Given the description of an element on the screen output the (x, y) to click on. 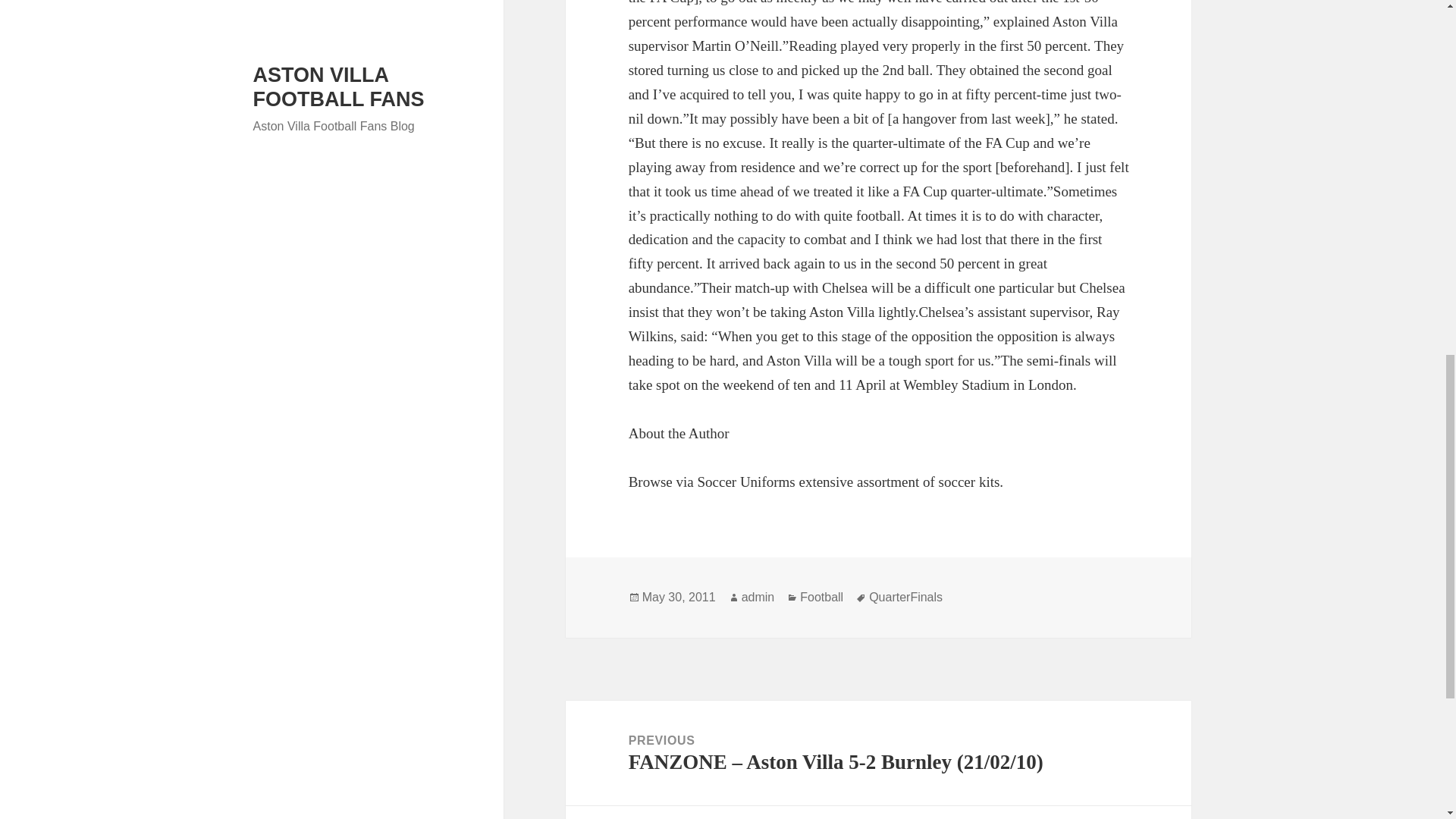
Football (821, 597)
QuarterFinals (905, 597)
admin (757, 597)
May 30, 2011 (679, 597)
